Given the description of an element on the screen output the (x, y) to click on. 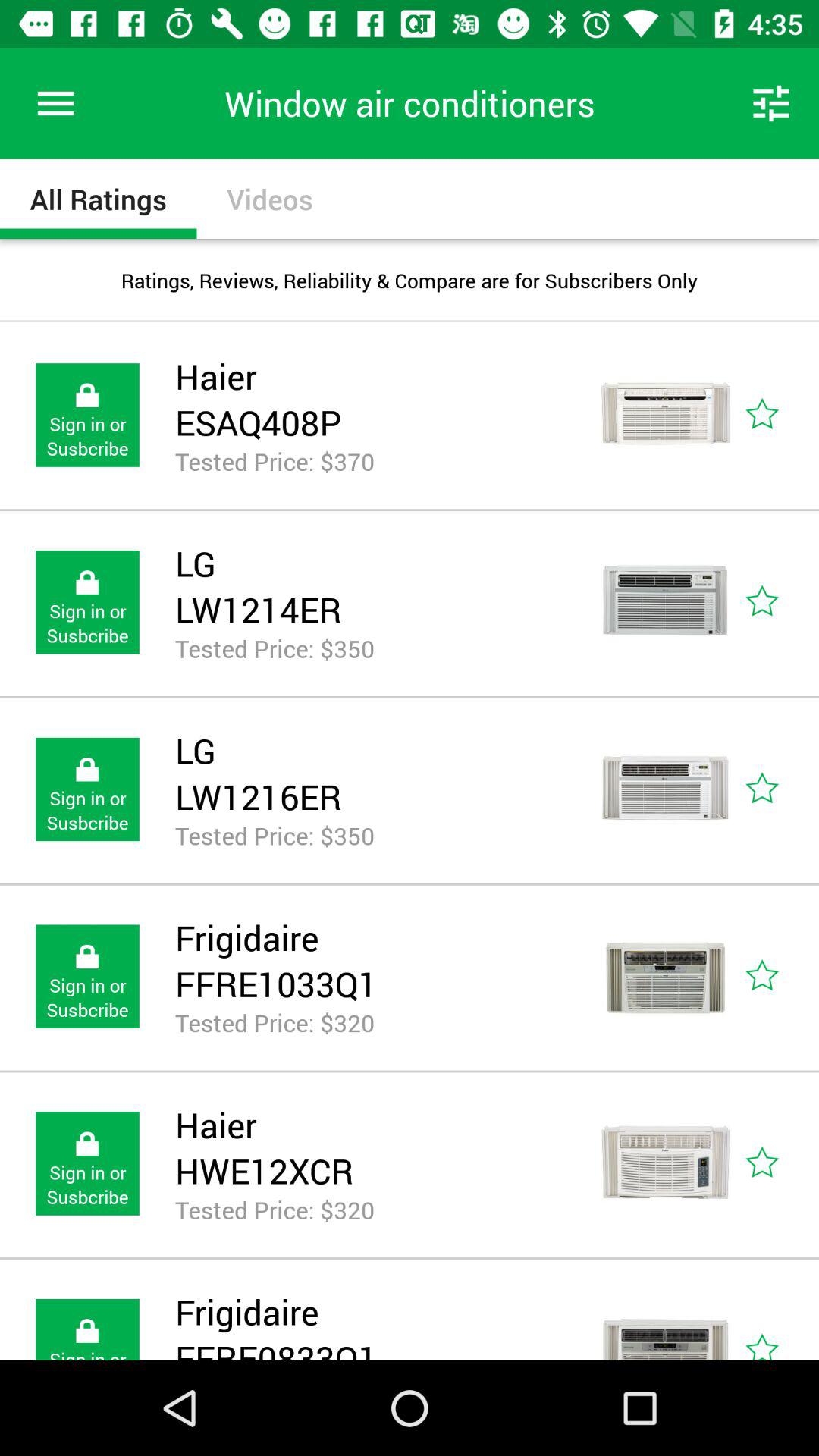
favorite (779, 1163)
